Given the description of an element on the screen output the (x, y) to click on. 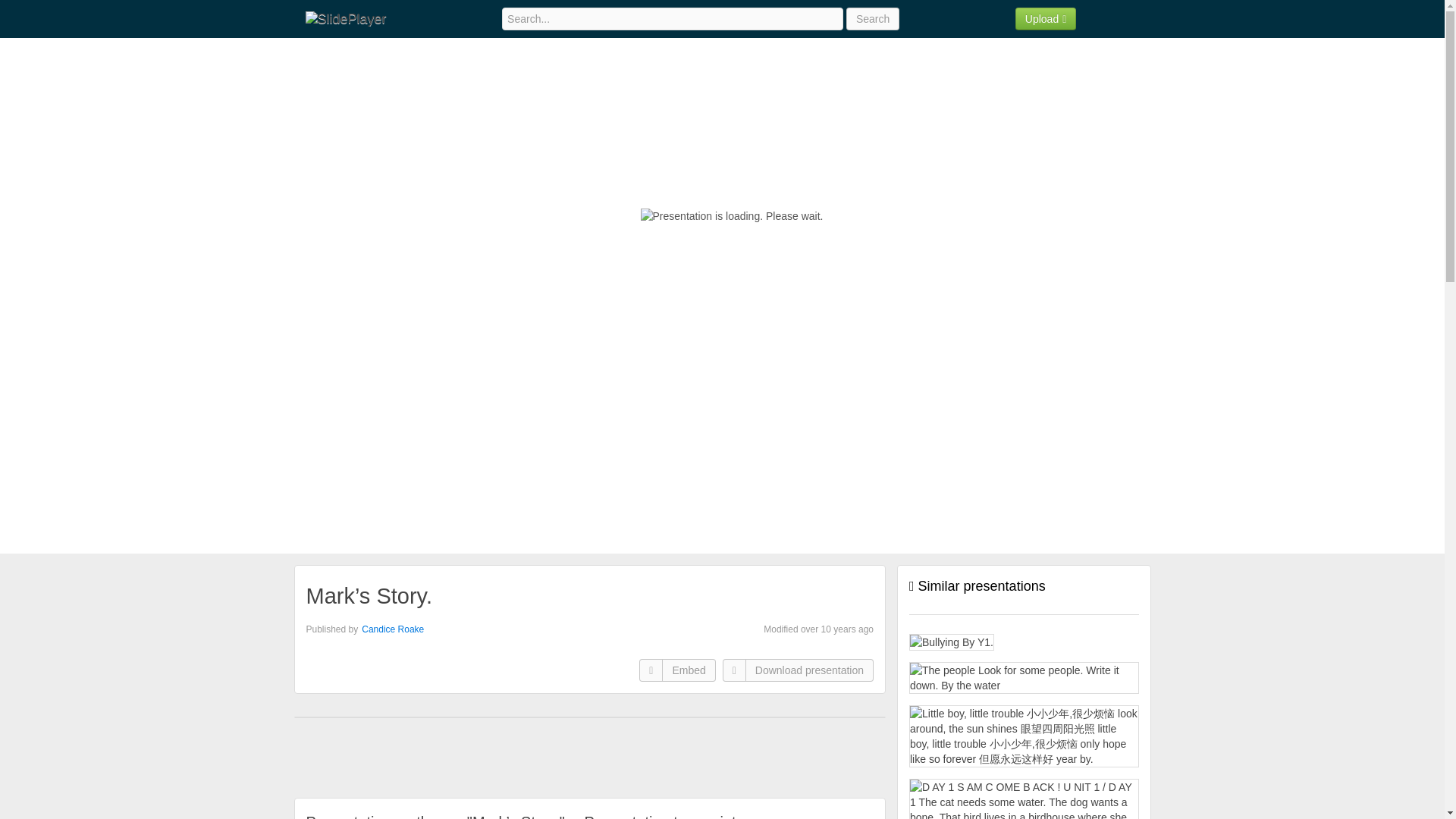
Upload (1045, 18)
SlidePlayer (344, 17)
Presentation is loading. Please wait. (732, 215)
Candice Roake (392, 629)
Search (872, 18)
